Given the description of an element on the screen output the (x, y) to click on. 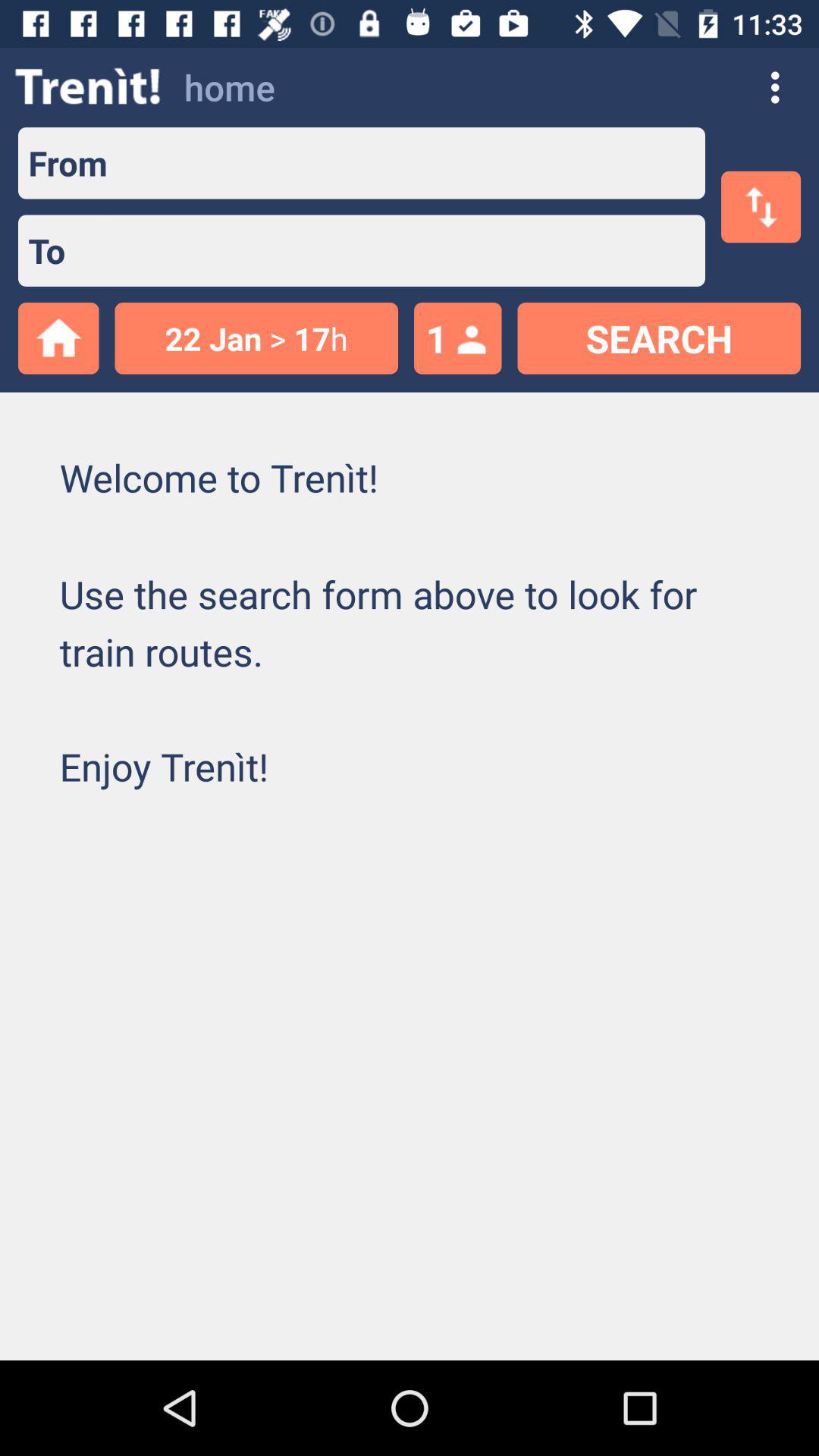
launch the item above to (62, 163)
